Given the description of an element on the screen output the (x, y) to click on. 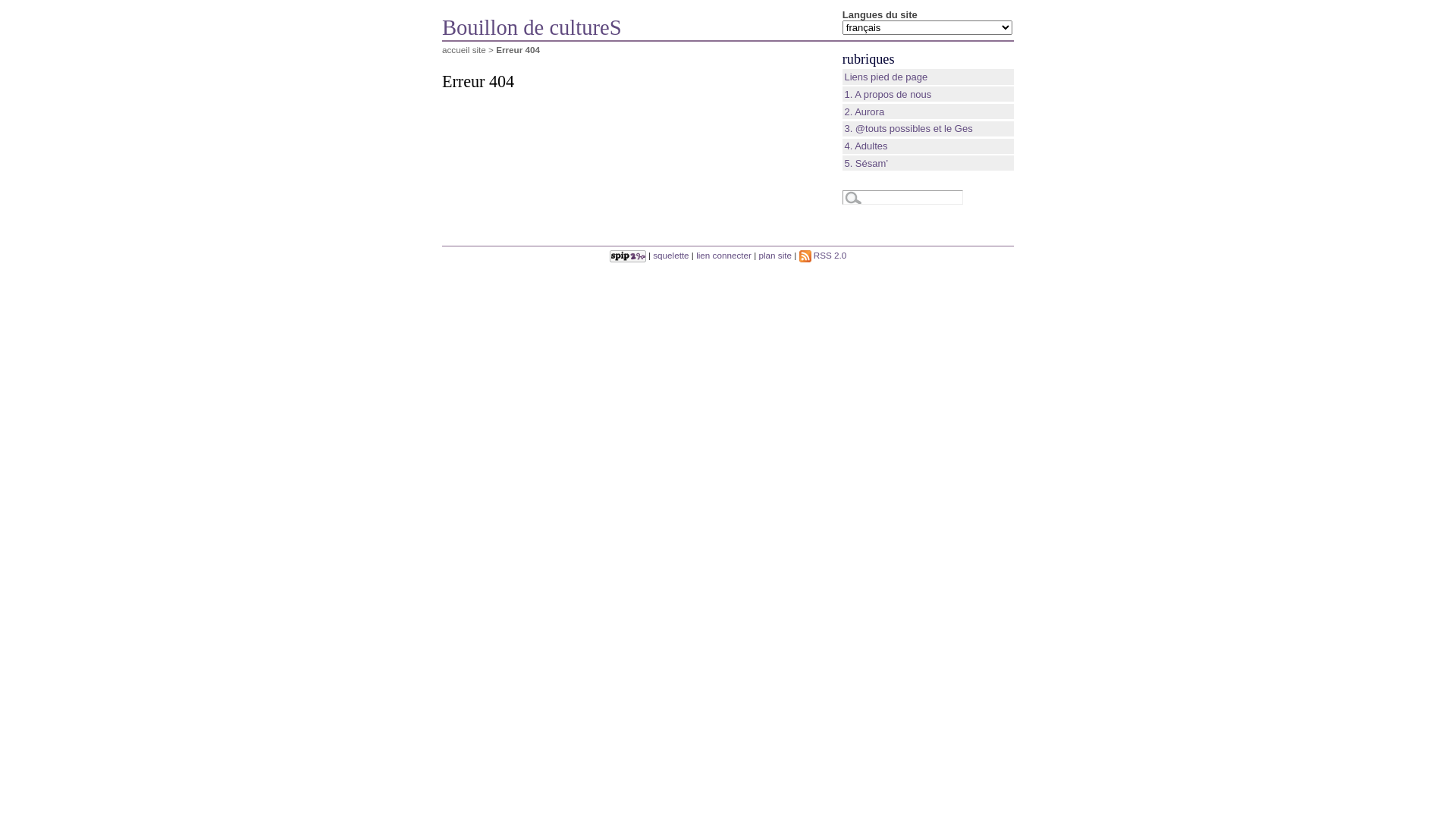
Liens pied de page Element type: text (885, 76)
plan site Element type: text (774, 255)
>> Element type: text (11, 7)
4. Adultes Element type: text (865, 145)
site realise avec spip Element type: hover (627, 255)
Bouillon de cultureS Element type: text (633, 27)
accueil site Element type: text (464, 49)
1. A propos de nous Element type: text (887, 94)
lien connecter Element type: text (723, 255)
2. Aurora Element type: text (864, 111)
 RSS 2.0 Element type: text (823, 255)
3. @touts possibles et le Ges Element type: text (908, 128)
squelette Element type: text (670, 255)
